Given the description of an element on the screen output the (x, y) to click on. 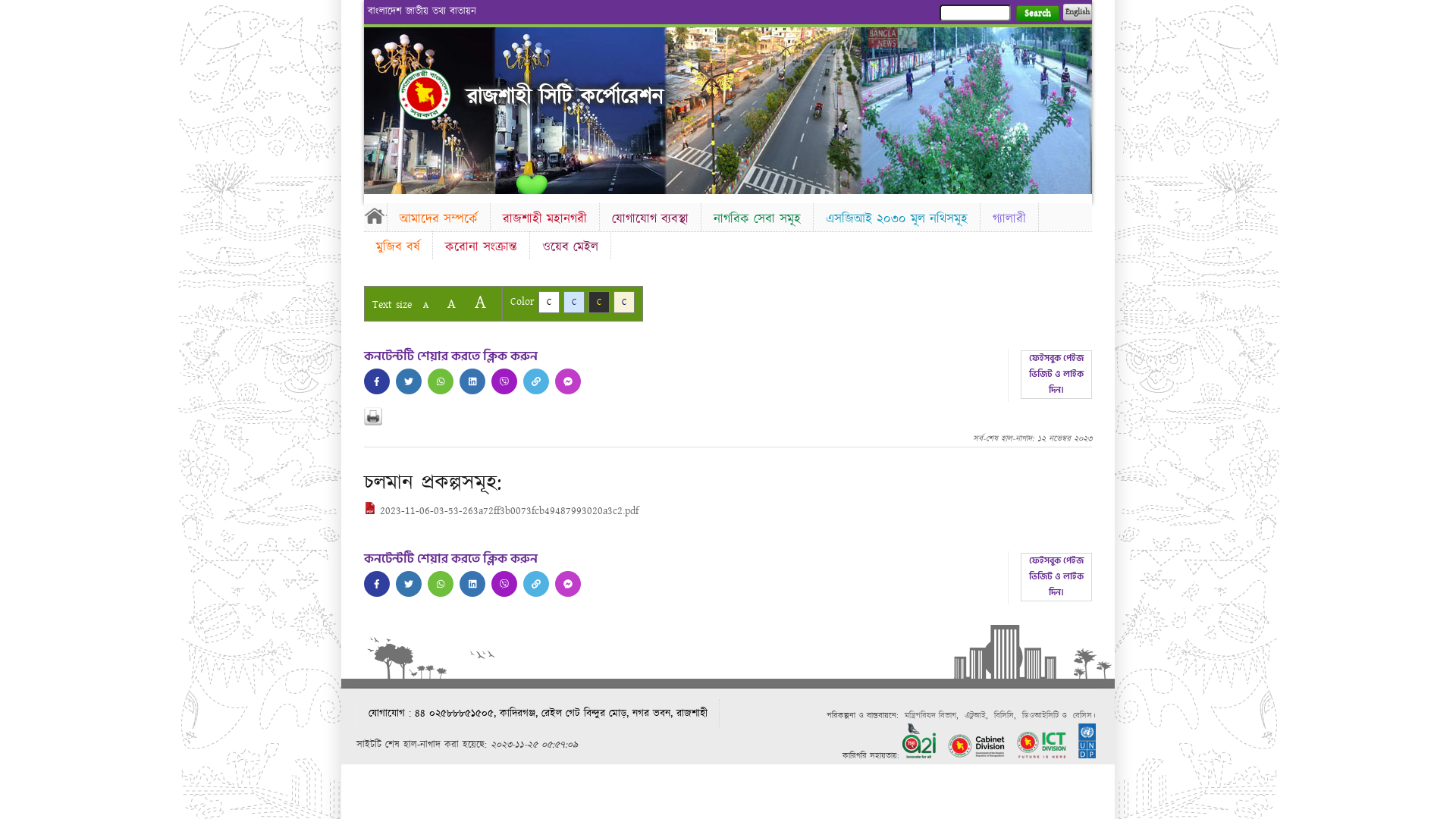
A Element type: text (425, 304)
C Element type: text (623, 302)
C Element type: text (573, 302)
English Element type: text (1077, 11)
2023-11-06-03-53-263a72ff3b0073fcb49487993020a3c2.pdf Element type: text (501, 510)
C Element type: text (598, 302)
Home Element type: hover (424, 93)
A Element type: text (451, 303)
Home Element type: hover (375, 215)
A Element type: text (480, 302)
Search Element type: text (1037, 13)
C Element type: text (548, 302)
